Given the description of an element on the screen output the (x, y) to click on. 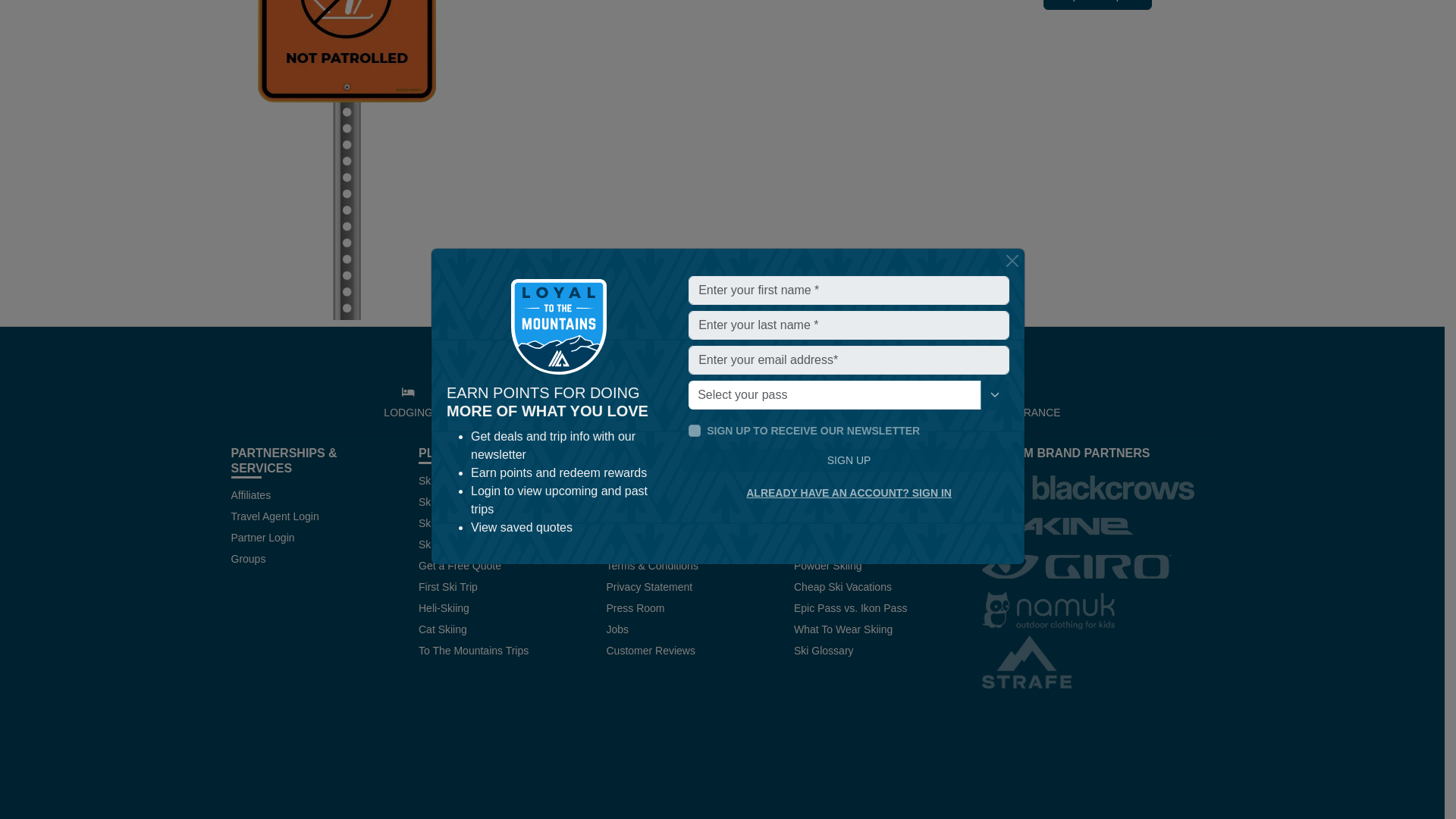
Ski.com Homepage (656, 0)
Ski Vacation Package Deals (485, 522)
Travel Agent Login (274, 516)
First Ski Trip (448, 586)
on (694, 268)
Find a Ski Resort (537, 0)
Request a quote (1097, 4)
Affiliates (250, 494)
To The Mountains Trips (473, 650)
Cat Skiing (443, 629)
Heli-Skiing (443, 607)
Partner Login (262, 537)
Ski Resorts (446, 480)
Ski Resort Accommodations (485, 501)
